Given the description of an element on the screen output the (x, y) to click on. 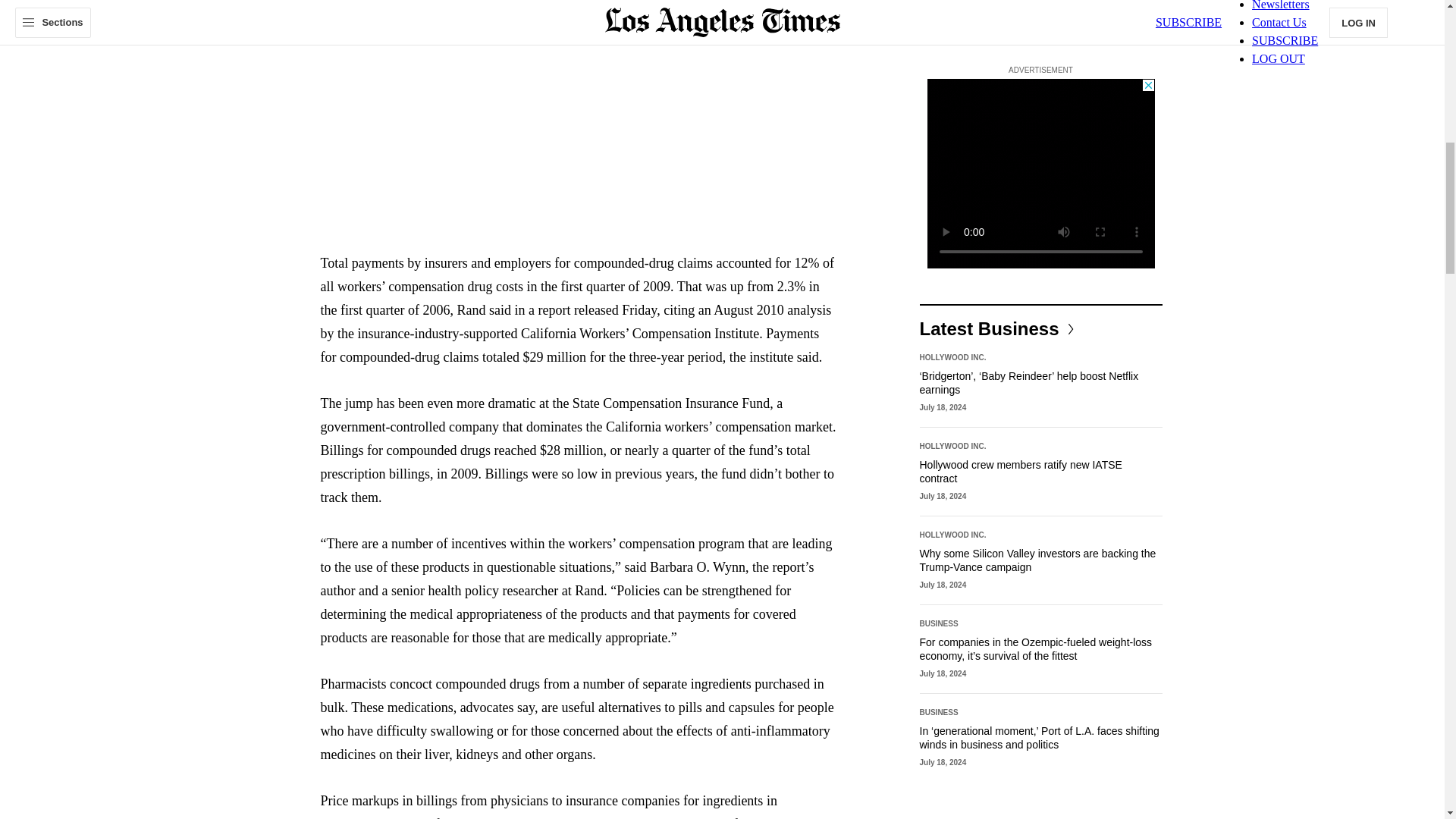
3rd party ad content (1040, 173)
